Given the description of an element on the screen output the (x, y) to click on. 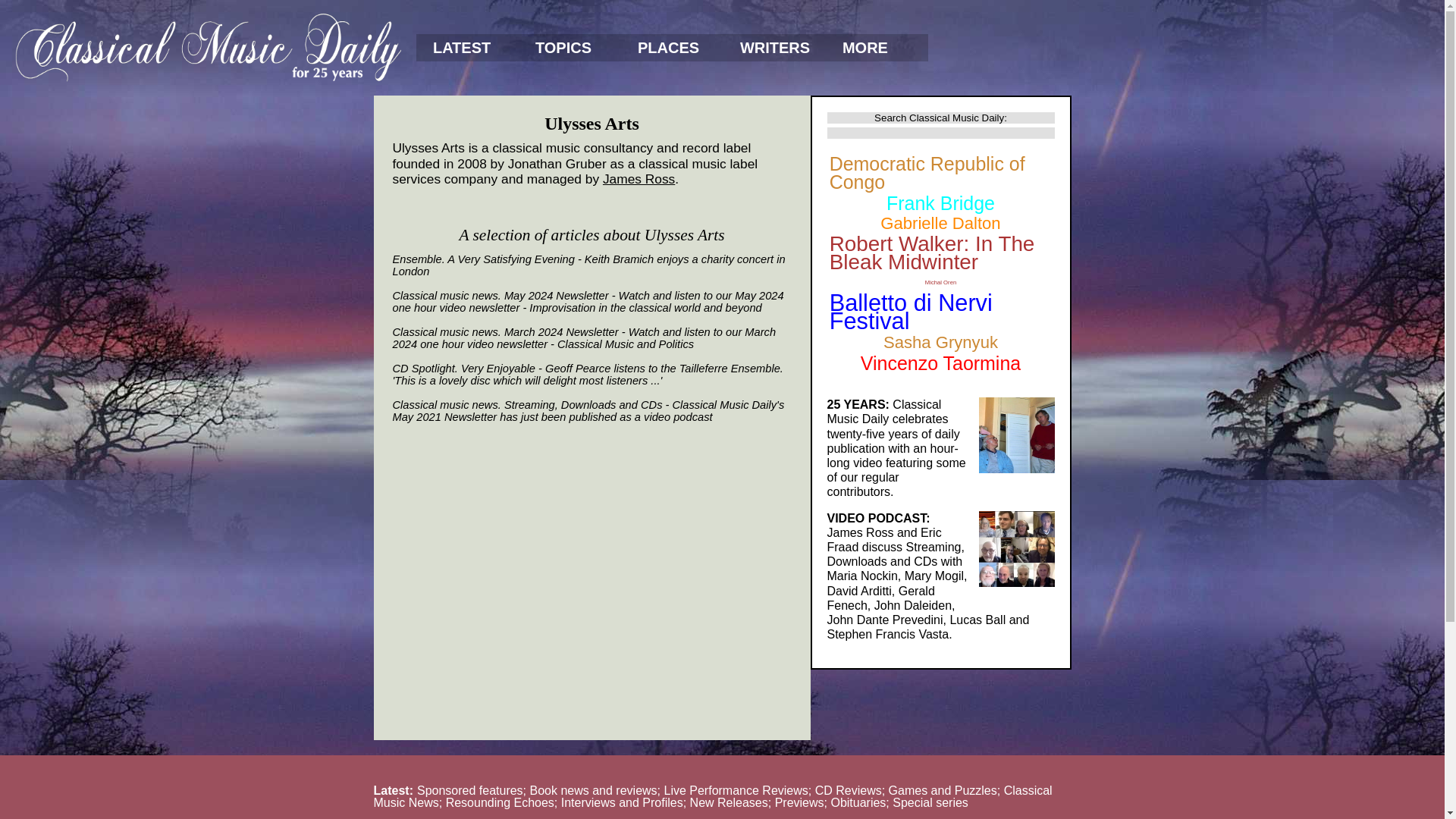
LATEST (467, 47)
Classical Music Daily (207, 47)
PLACES (672, 47)
TOPICS (569, 47)
Search Classical Music Daily: (940, 117)
